Given the description of an element on the screen output the (x, y) to click on. 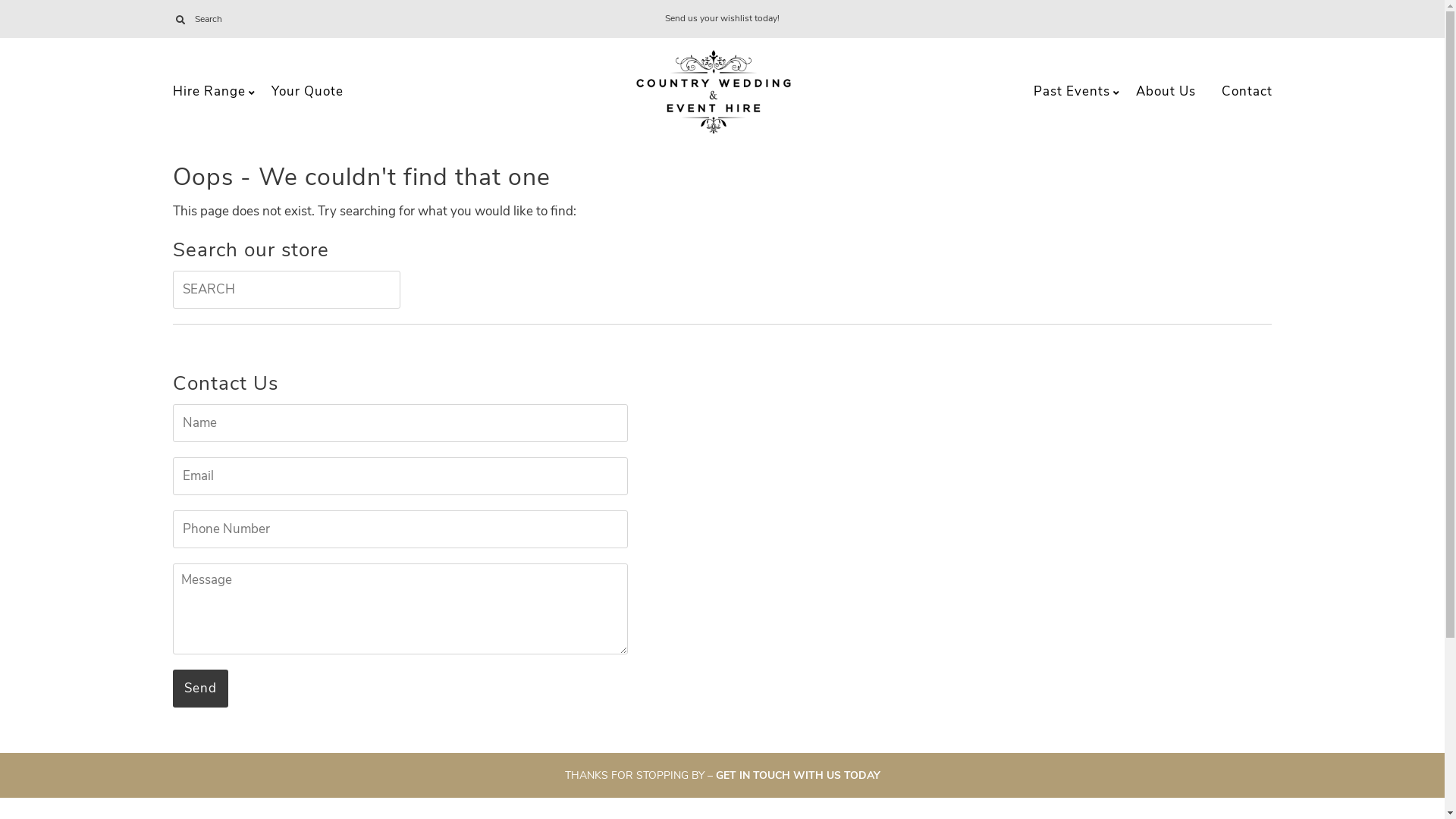
About Us Element type: text (1164, 91)
Send Element type: text (200, 688)
Past Events Element type: text (1071, 91)
Hire Range Element type: text (208, 91)
Contact Element type: text (1246, 91)
GET IN TOUCH Element type: text (752, 775)
Your Quote Element type: text (306, 91)
